Given the description of an element on the screen output the (x, y) to click on. 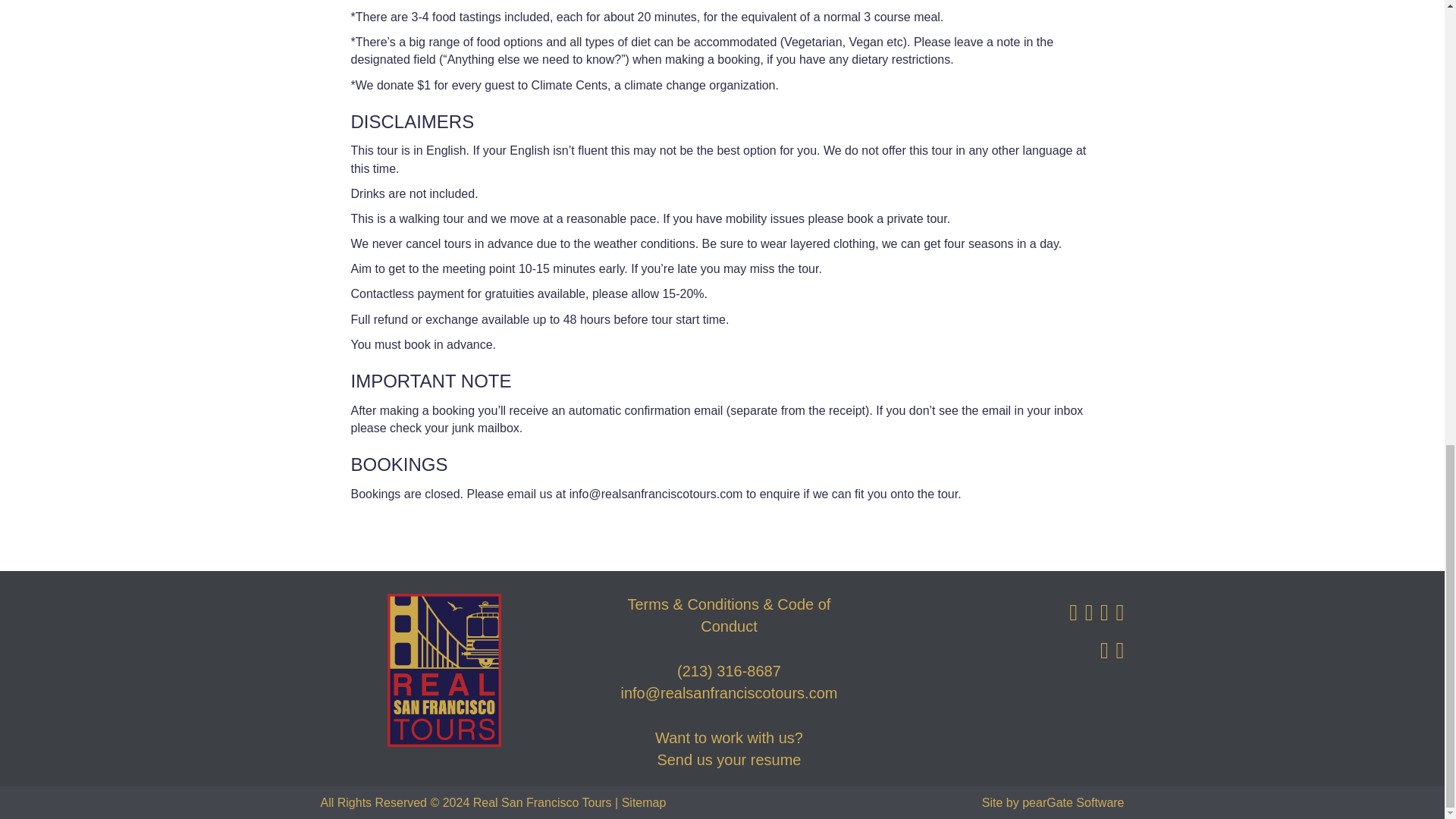
Sitemap (643, 802)
pearGate Software (1073, 802)
Send us your resume (728, 759)
